Given the description of an element on the screen output the (x, y) to click on. 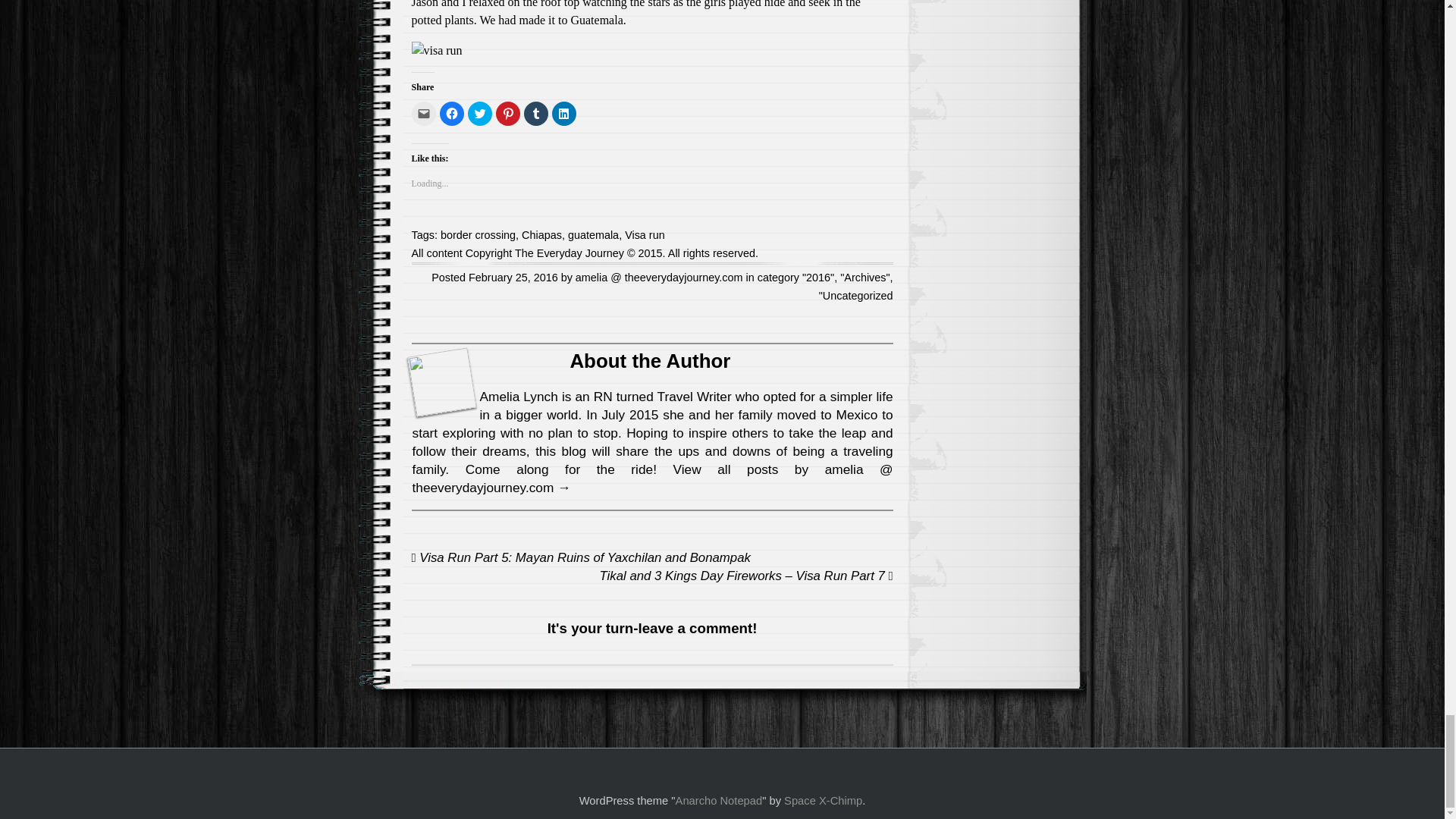
border crossing (478, 234)
Visa Run Part 5: Mayan Ruins of Yaxchilan and Bonampak (579, 557)
Chiapas (541, 234)
Click to share on Tumblr (534, 113)
Visa run (644, 234)
Click to share on Facebook (451, 113)
Uncategorized (857, 295)
Theme page (718, 800)
guatemala (592, 234)
Click to share on Pinterest (507, 113)
Archives (864, 277)
2016 (817, 277)
Click to email a link to a friend (422, 113)
Theme author (822, 800)
